Given the description of an element on the screen output the (x, y) to click on. 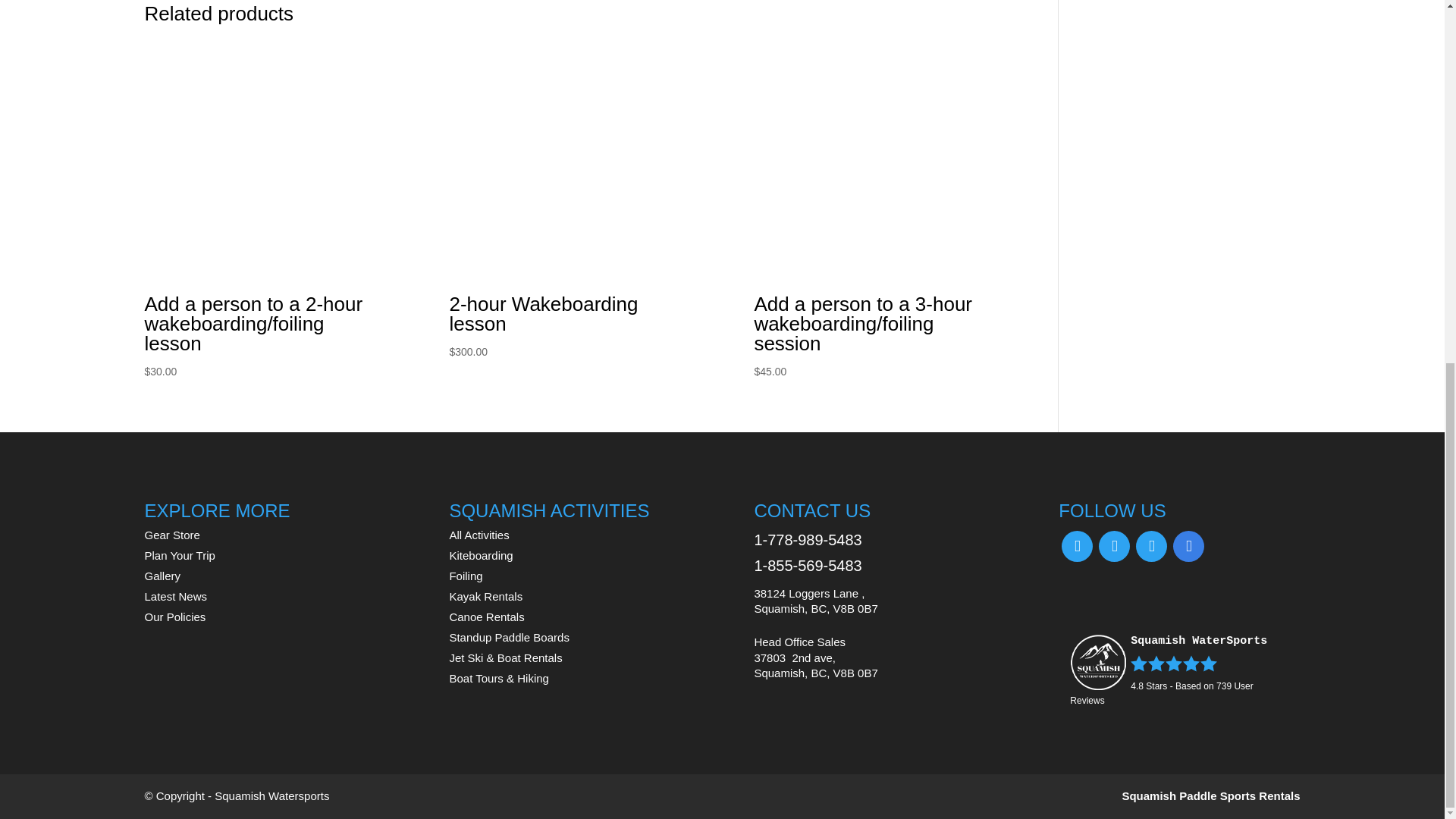
Default Label (1151, 544)
Facebook (1077, 544)
Default Label (1188, 544)
Instagram (1114, 544)
